Given the description of an element on the screen output the (x, y) to click on. 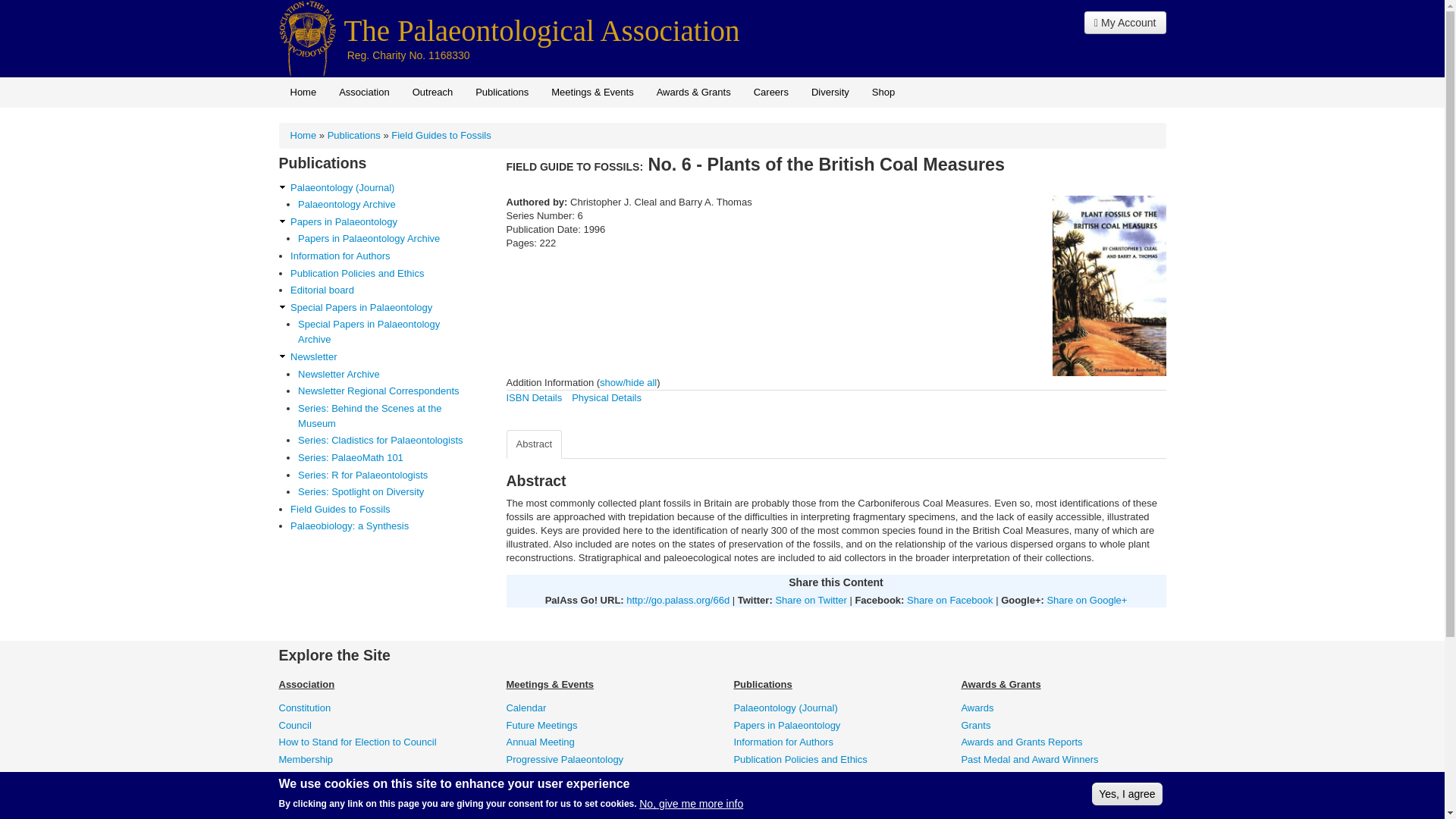
Publications (353, 134)
Palaeontology Archive (385, 204)
Series: Spotlight on Diversity (385, 491)
Field Guides to Fossils (441, 134)
Palaeobiology: a Synthesis (384, 525)
Newsletter Regional Correspondents (385, 391)
Special Papers in Palaeontology Archive (385, 331)
Publications (502, 91)
Physical Details (607, 397)
Series: Behind the Scenes at the Museum (385, 416)
